Given the description of an element on the screen output the (x, y) to click on. 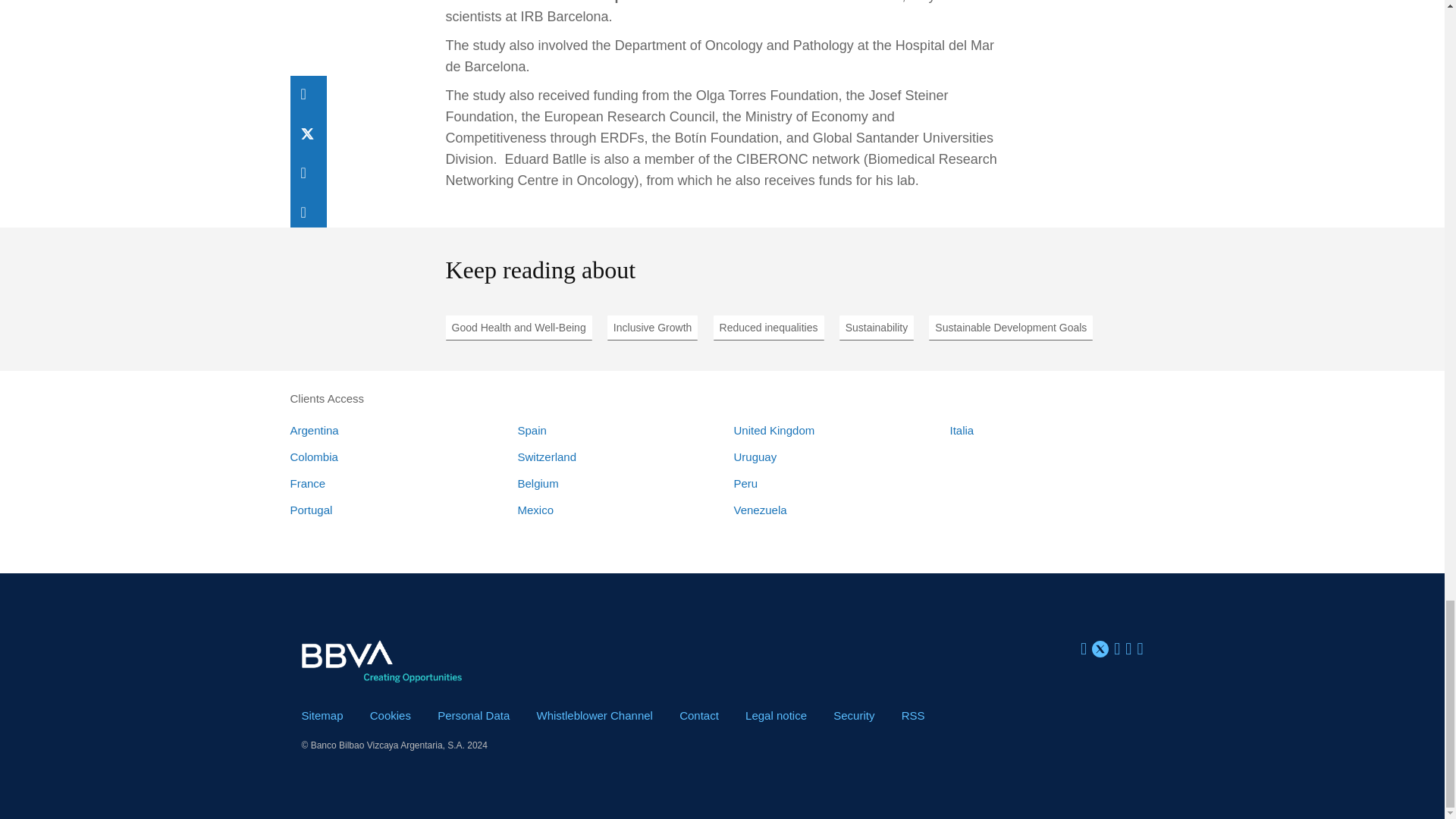
modal (775, 715)
